Given the description of an element on the screen output the (x, y) to click on. 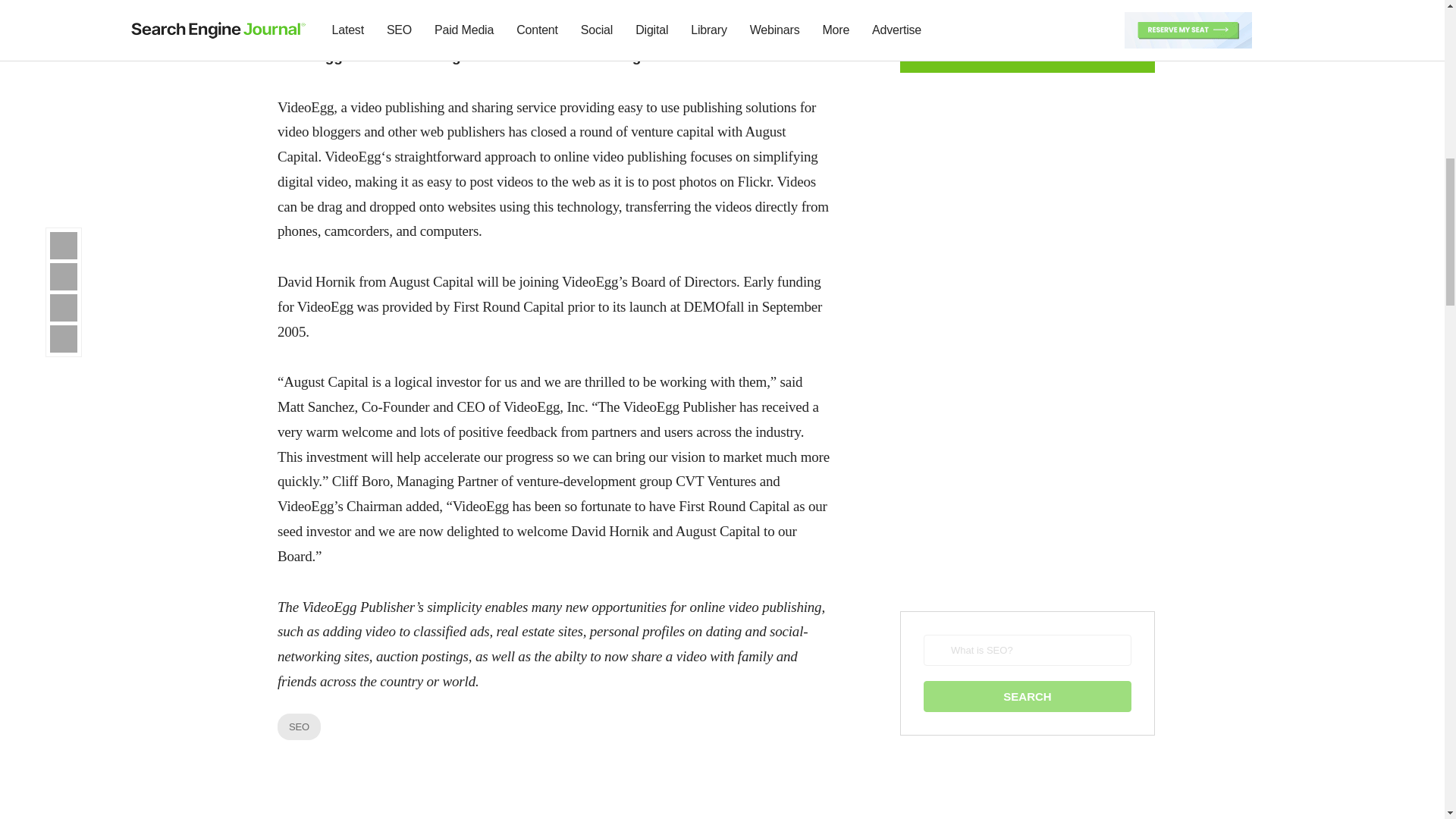
SEARCH (1027, 695)
SEARCH (1027, 695)
